Given the description of an element on the screen output the (x, y) to click on. 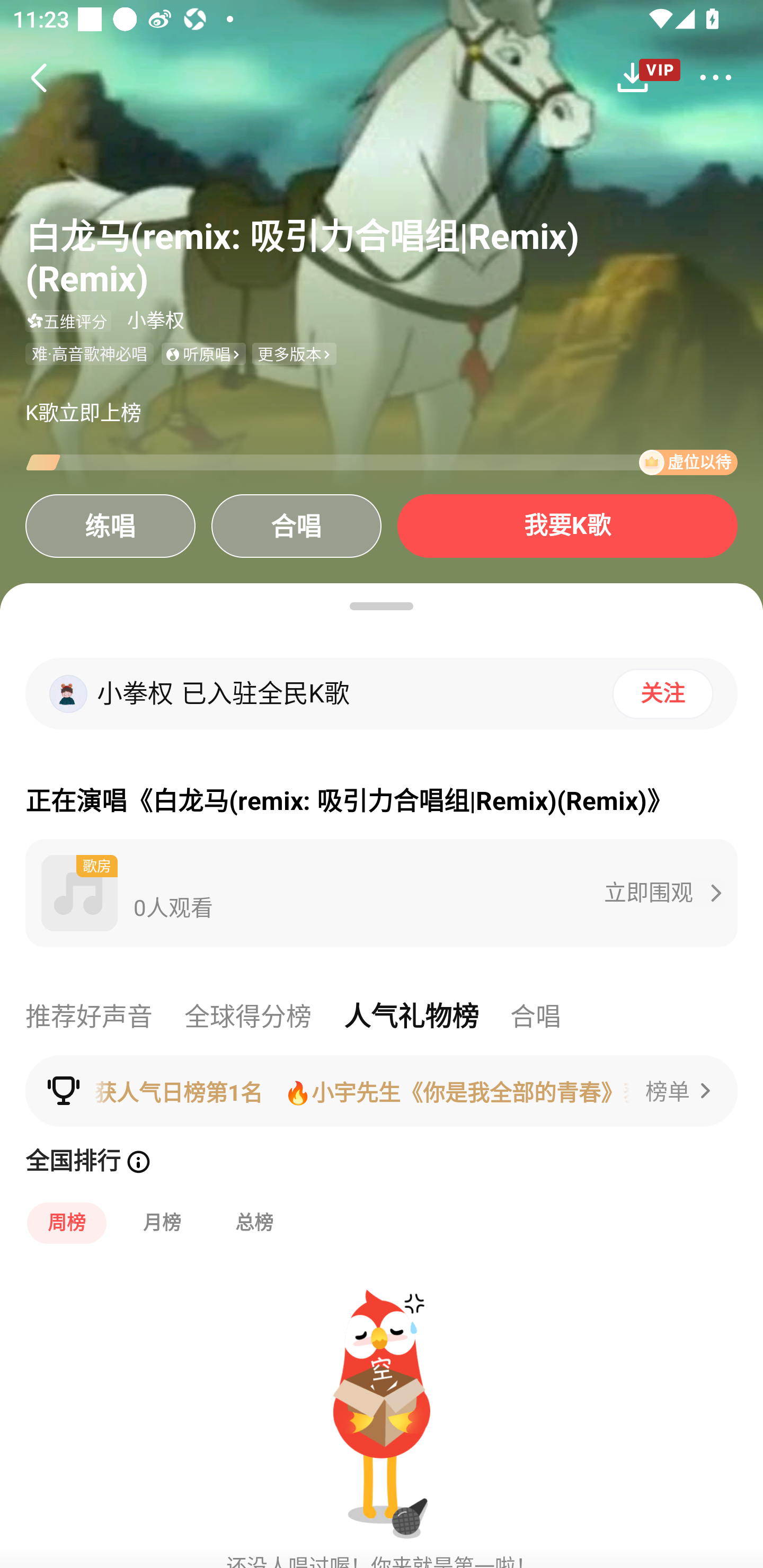
返回 (38, 77)
更多 (715, 77)
vip下载 (646, 78)
小拳权 (155, 320)
难·高音歌神必唱 (89, 354)
听原唱 (203, 354)
练唱 (110, 525)
合唱 (296, 525)
我要K歌 (567, 525)
头像 小拳权 已入驻全民K歌 关注 (381, 693)
关注 (662, 693)
歌房 0人观看 立即围观 (381, 892)
推荐好声音 (88, 1016)
全球得分榜 (247, 1016)
人气礼物榜 (410, 1016)
合唱 (535, 1016)
全国排行 榜单规则 (381, 1164)
榜单规则 (138, 1161)
周榜 (66, 1222)
月榜 (161, 1222)
总榜 (253, 1222)
还没人唱过喔！你来就是第一啦！ (381, 1412)
